Given the description of an element on the screen output the (x, y) to click on. 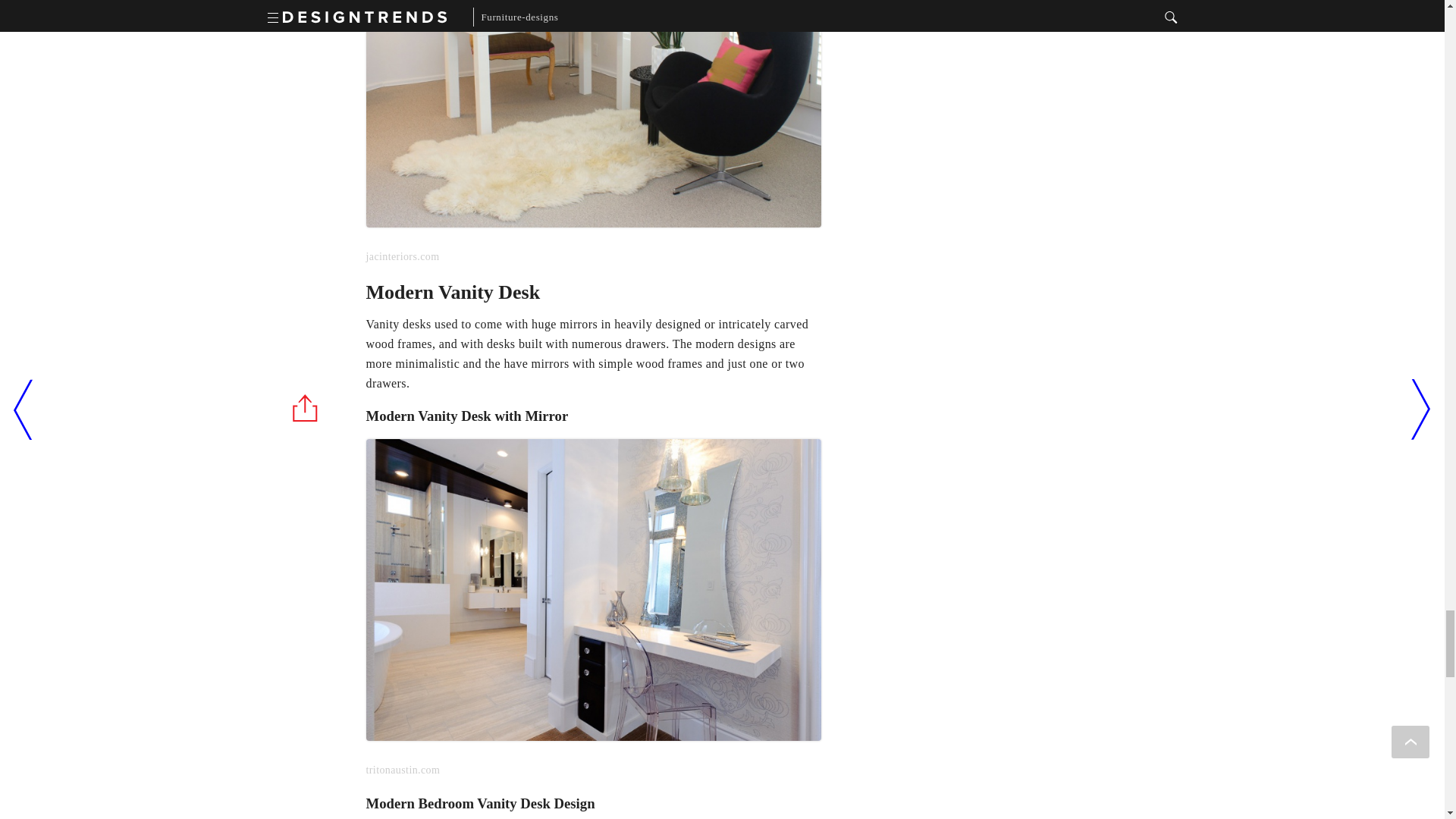
jacinteriors.com (593, 134)
